Given the description of an element on the screen output the (x, y) to click on. 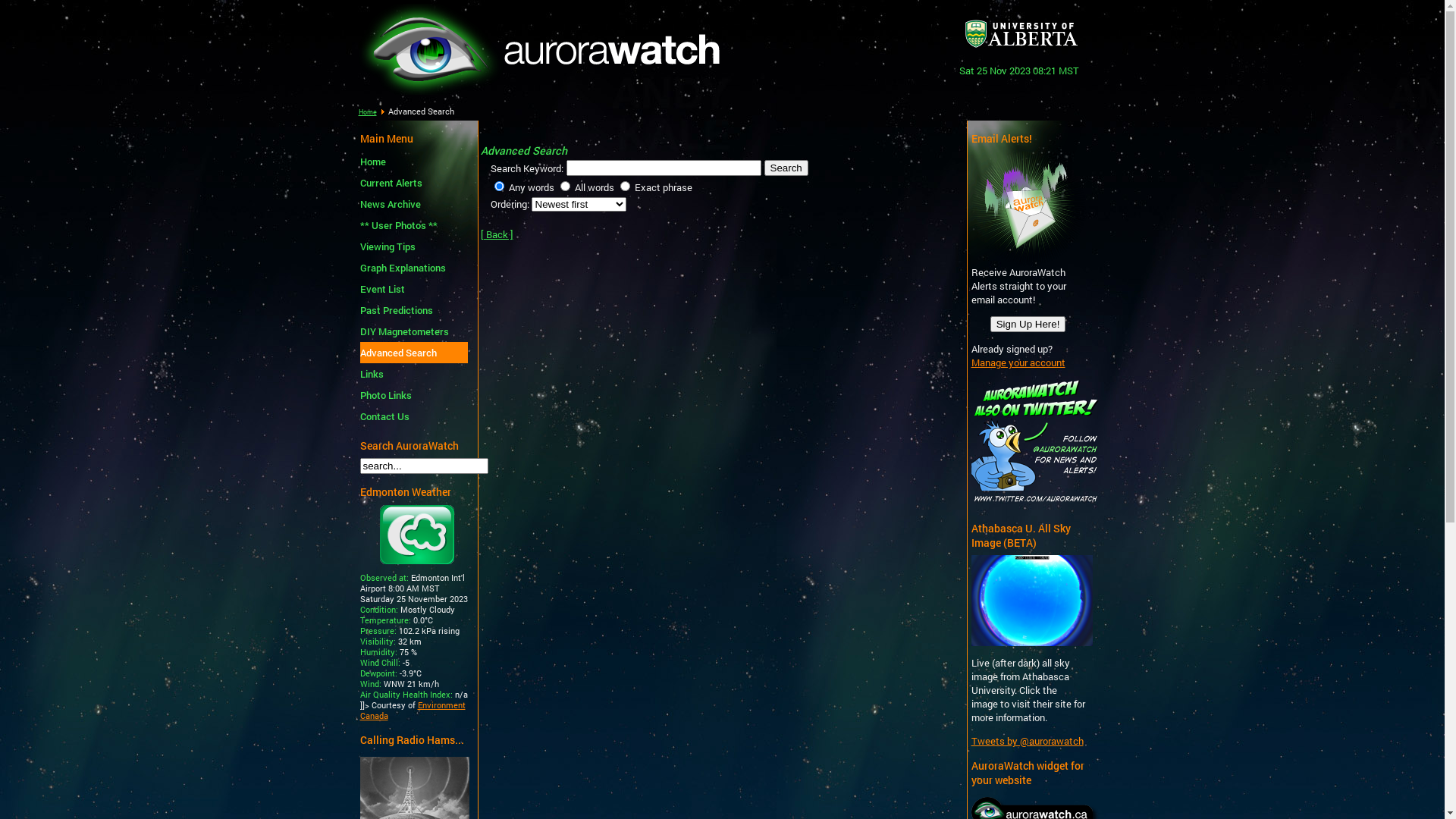
Photo Links Element type: text (413, 394)
Current Alerts Element type: text (413, 182)
Viewing Tips Element type: text (413, 246)
Sign Up Here! Element type: text (1028, 324)
Environment Canada Element type: text (411, 710)
Graph Explanations Element type: text (413, 267)
News Archive Element type: text (413, 203)
Past Predictions Element type: text (413, 309)
[ Back ] Element type: text (496, 234)
** User Photos ** Element type: text (413, 224)
Tweets by @aurorawatch Element type: text (1026, 740)
Manage your account Element type: text (1017, 362)
Home Element type: text (366, 105)
Links Element type: text (413, 373)
Advanced Search Element type: text (413, 352)
DIY Magnetometers Element type: text (413, 331)
Event List Element type: text (413, 288)
Home Element type: text (413, 161)
Contact Us Element type: text (413, 415)
Search Element type: text (786, 167)
